Given the description of an element on the screen output the (x, y) to click on. 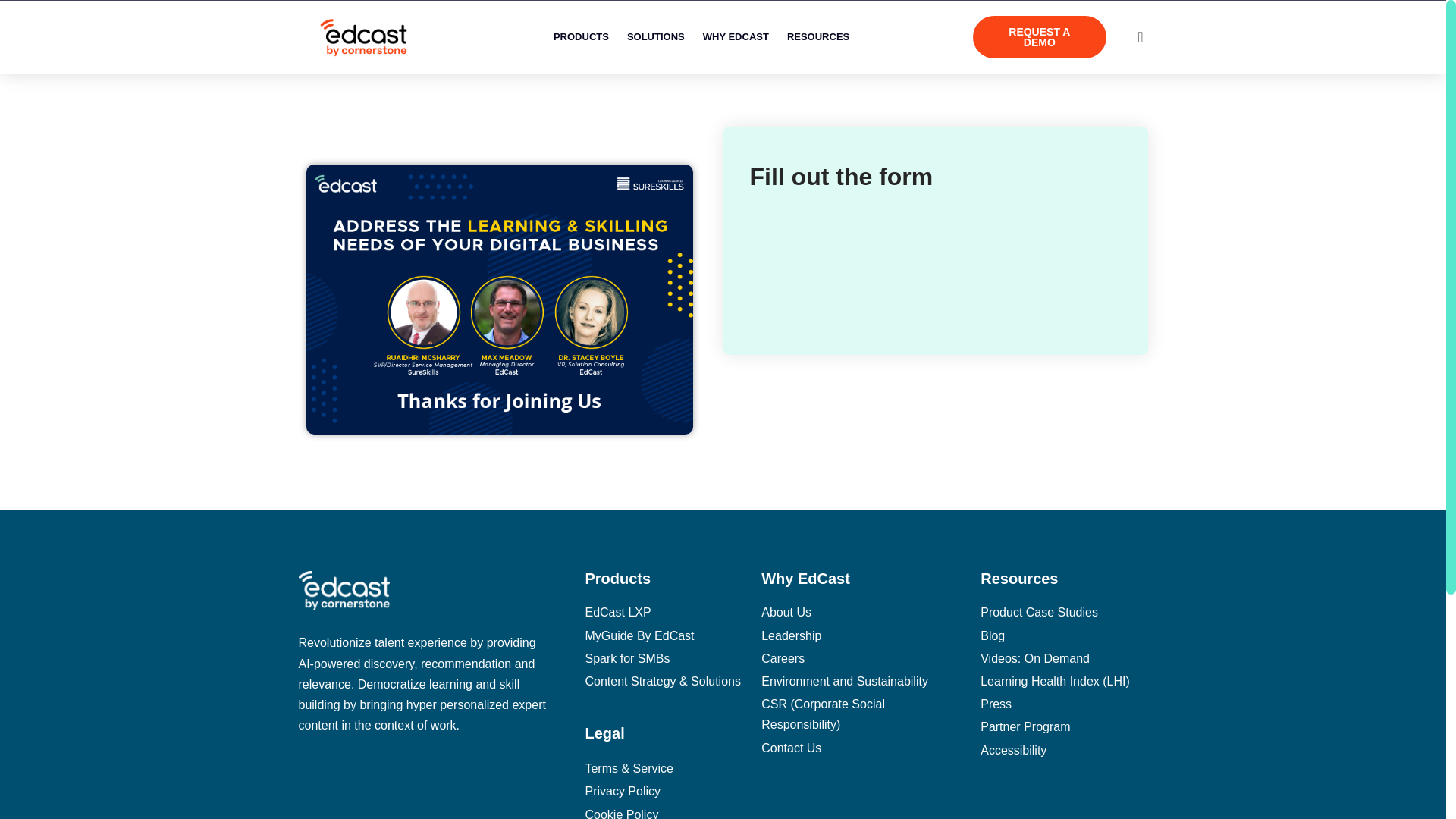
WHY EDCAST (735, 36)
PRODUCTS (580, 36)
RESOURCES (818, 36)
SOLUTIONS (655, 36)
Skip to content (11, 31)
